Given the description of an element on the screen output the (x, y) to click on. 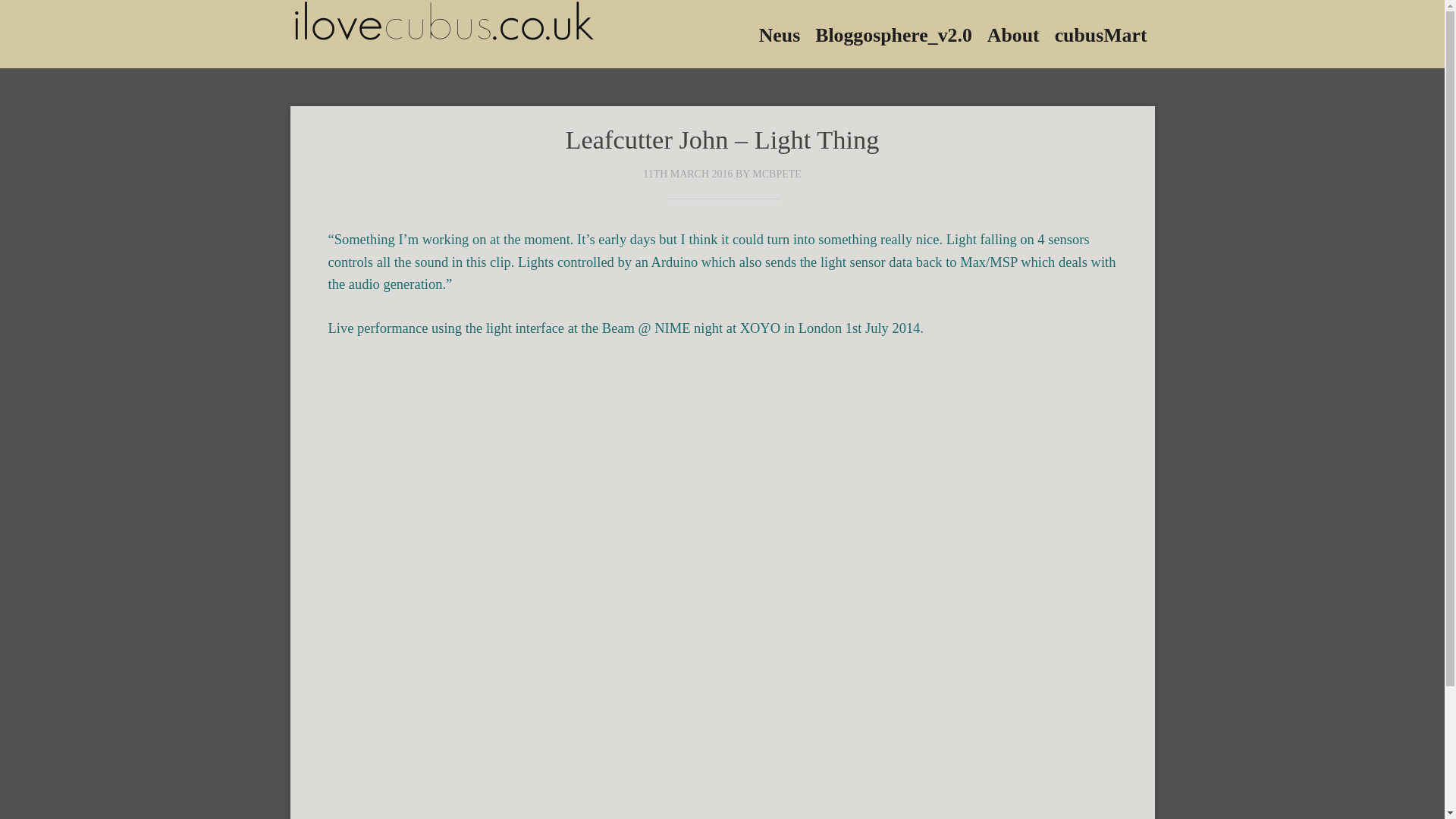
cubusMart (1100, 33)
About (1012, 33)
11TH MARCH 2016 (687, 173)
MCBPETE (776, 173)
